Given the description of an element on the screen output the (x, y) to click on. 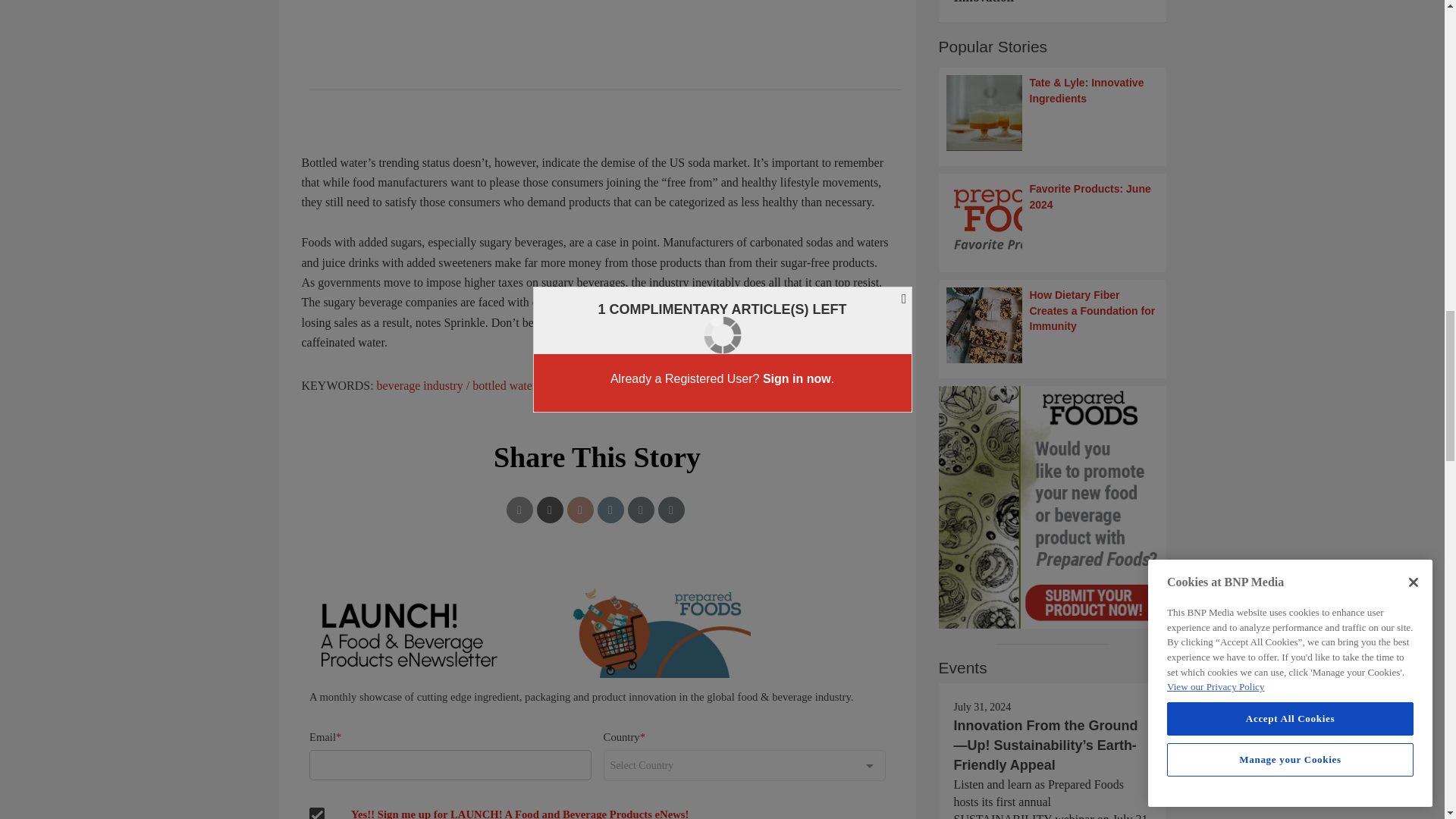
Favorite Products: June 2024 (1052, 218)
How Dietary Fiber Creates a Foundation for Immunity (1052, 325)
